Given the description of an element on the screen output the (x, y) to click on. 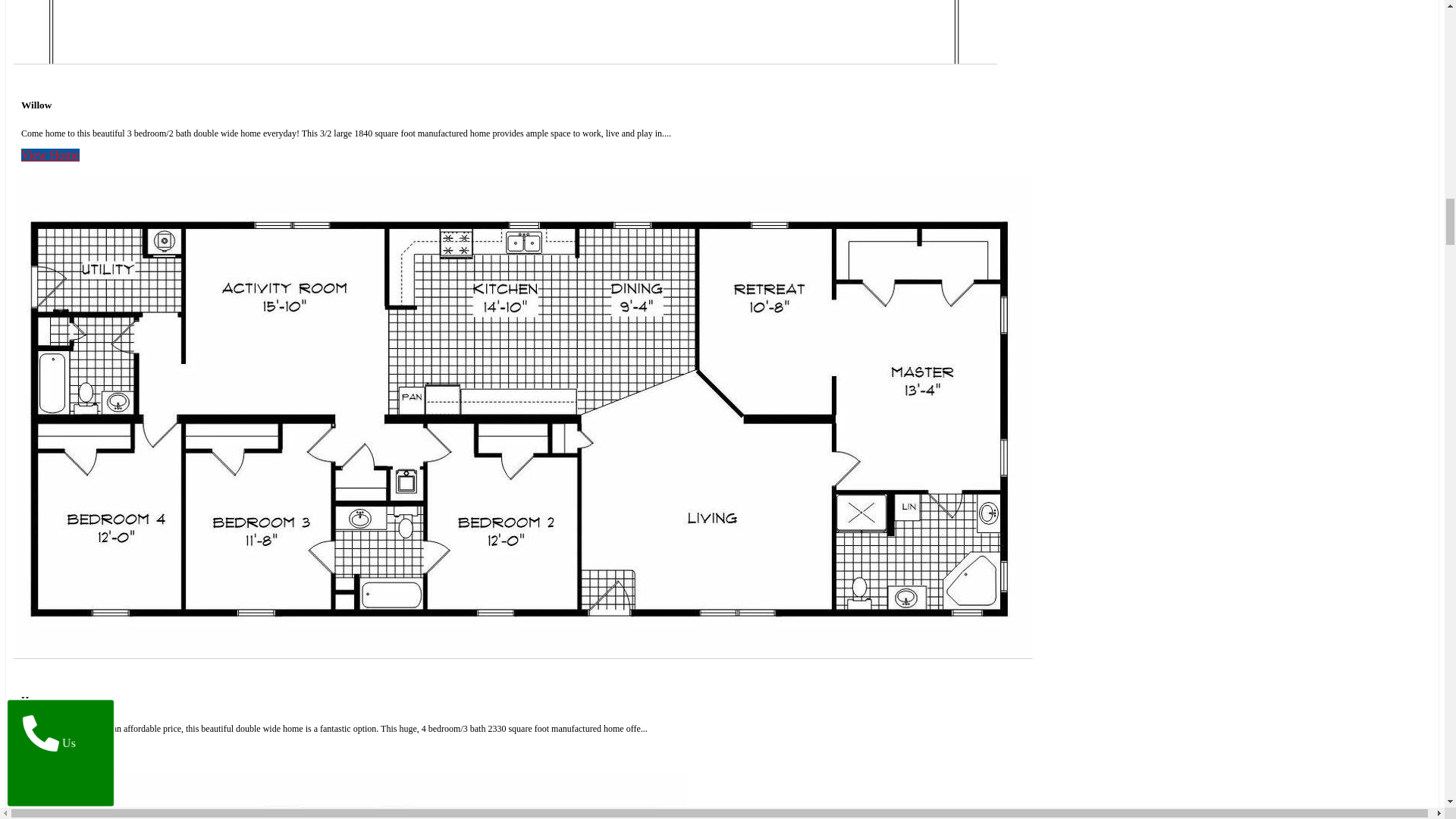
View Home (50, 749)
View Home (50, 154)
